Given the description of an element on the screen output the (x, y) to click on. 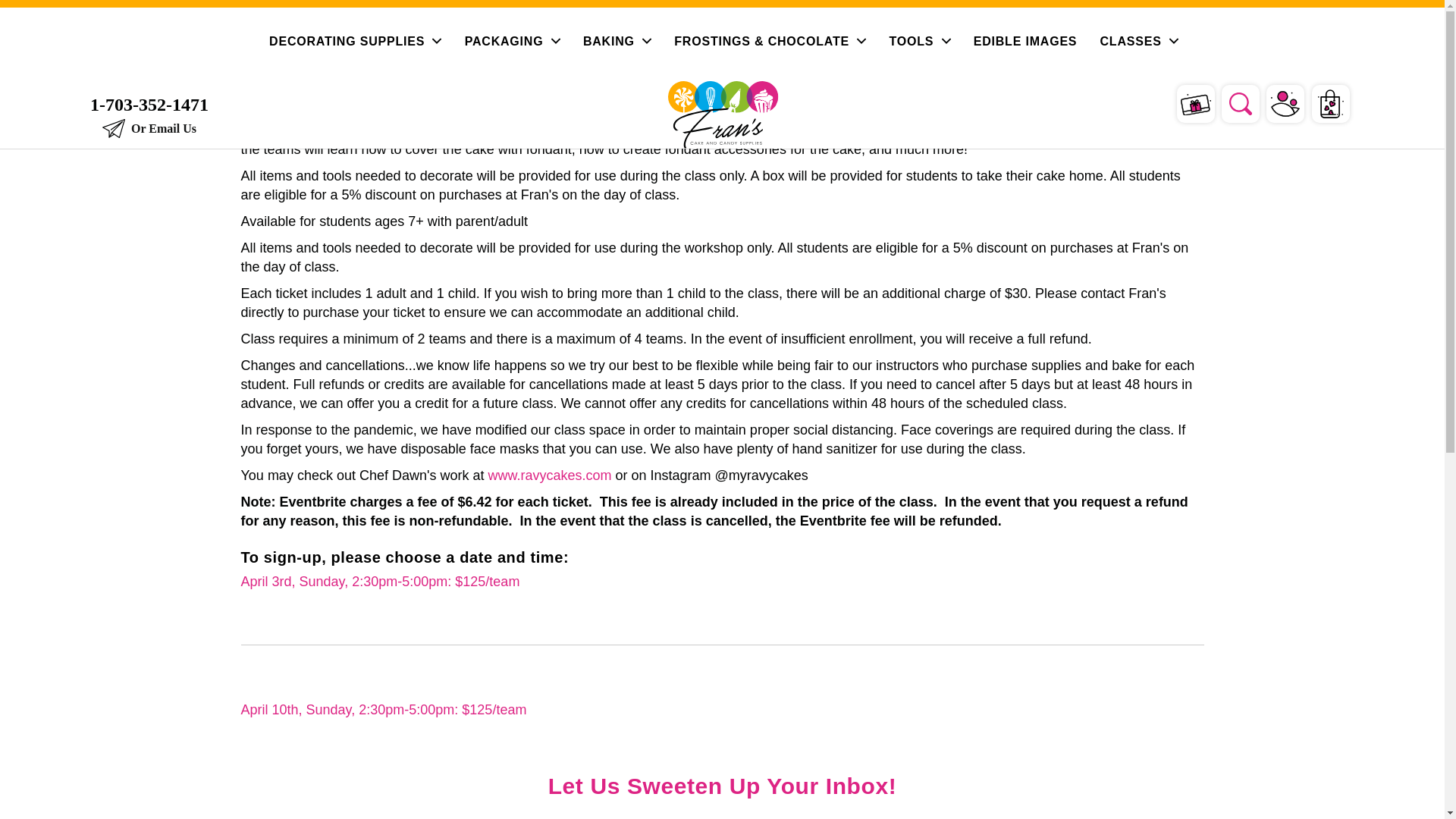
Contact US (149, 128)
DECORATING SUPPLIES (355, 41)
Contact US (149, 104)
kids eastern cake decorating class (384, 709)
Frans Cake and Candy (722, 114)
kids eastern cake decorating class (380, 581)
